Given the description of an element on the screen output the (x, y) to click on. 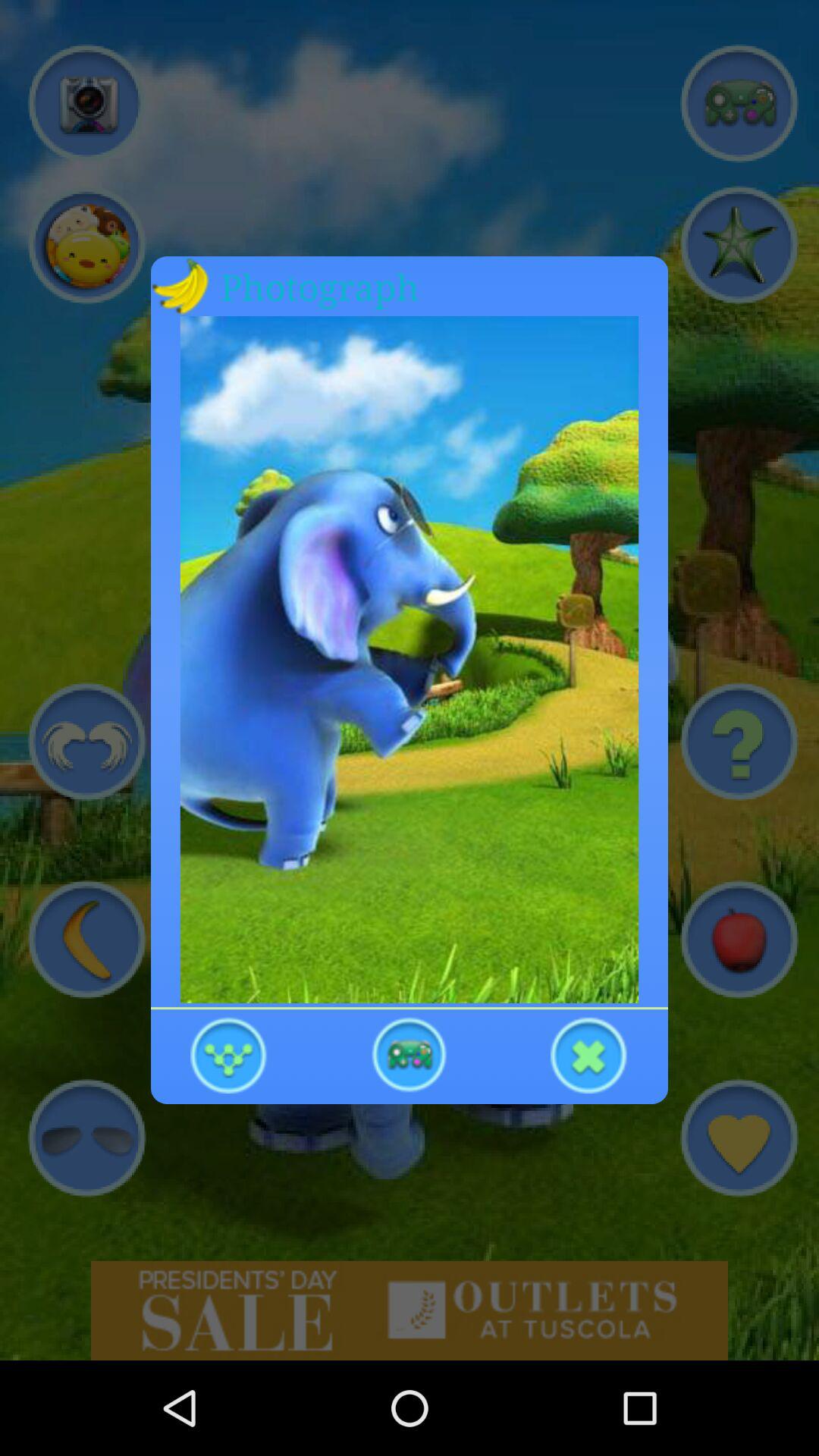
tap the item at the bottom left corner (229, 1054)
